Given the description of an element on the screen output the (x, y) to click on. 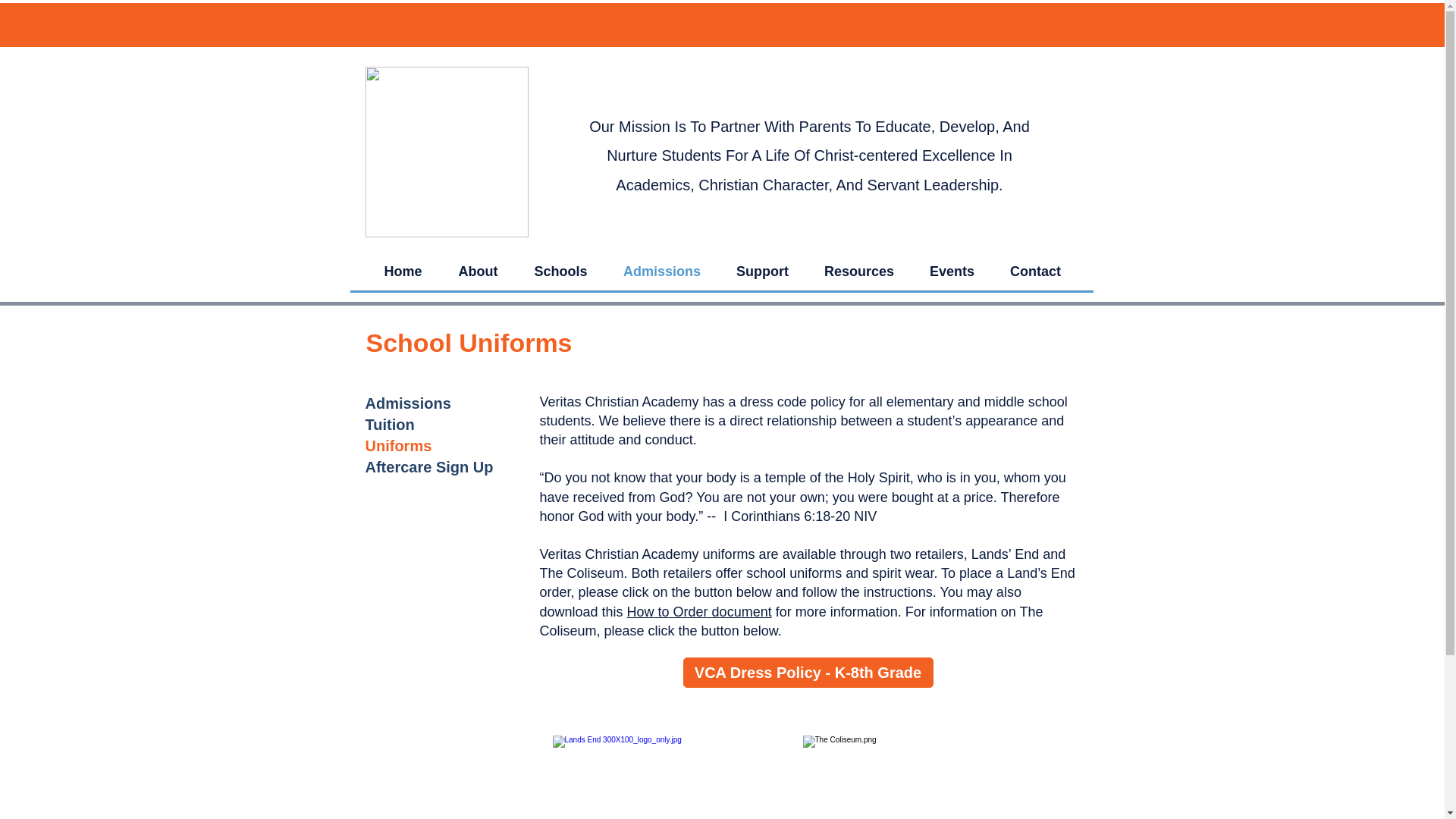
About (477, 271)
Aftercare Sign Up (429, 466)
Resources (859, 271)
Admissions (661, 271)
VCA Dress Policy - K-8th Grade (807, 672)
Uniforms (398, 445)
Schools (560, 271)
Home (402, 271)
How to Order document (699, 611)
Support (762, 271)
Events (951, 271)
Contact (1034, 271)
Admissions (408, 402)
Tuition (389, 424)
